Given the description of an element on the screen output the (x, y) to click on. 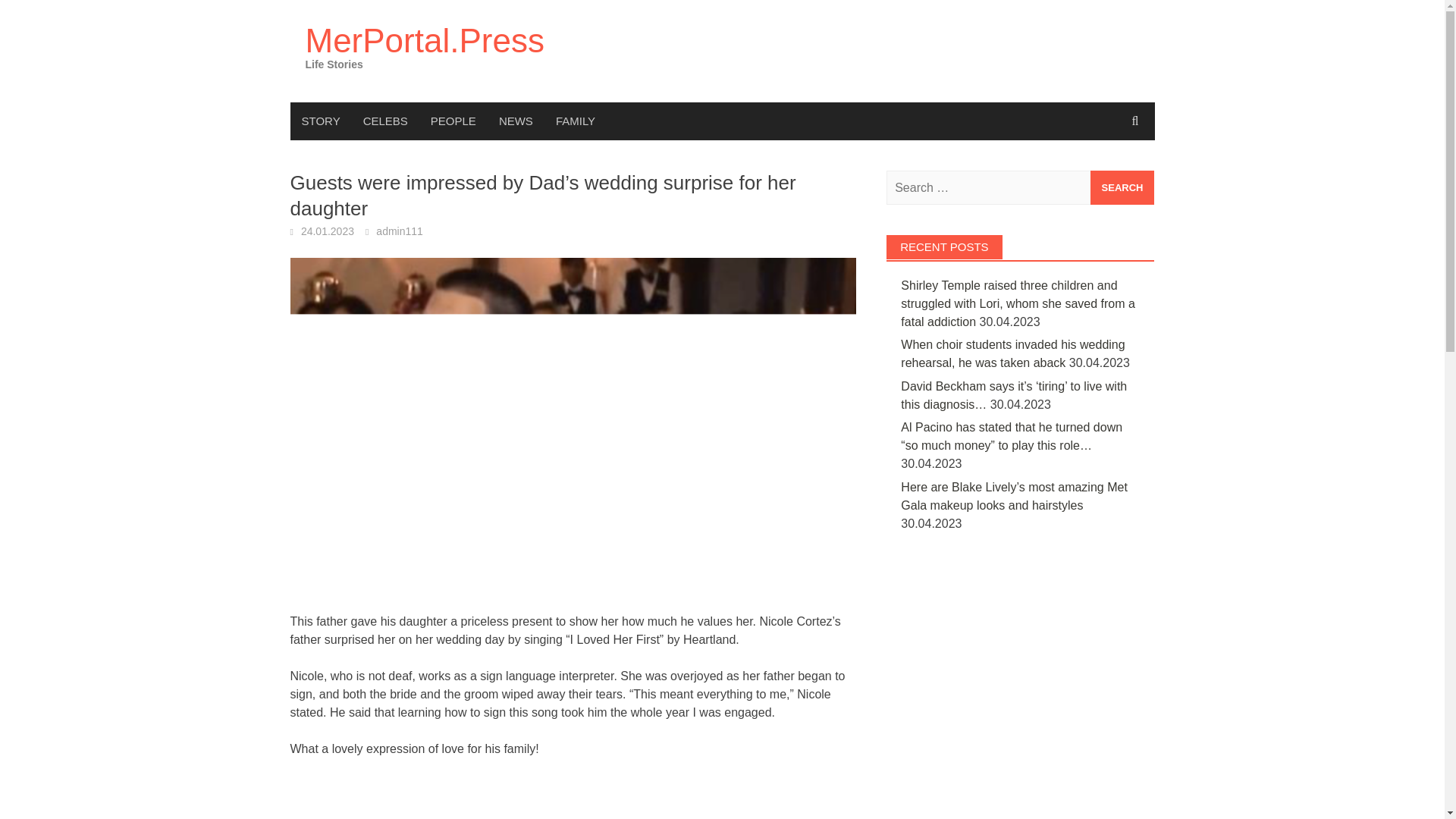
admin111 (399, 231)
Search (1122, 187)
Search (1122, 187)
FAMILY (575, 121)
YouTube video player (501, 797)
MerPortal.Press (423, 40)
24.01.2023 (327, 231)
PEOPLE (453, 121)
NEWS (515, 121)
